Given the description of an element on the screen output the (x, y) to click on. 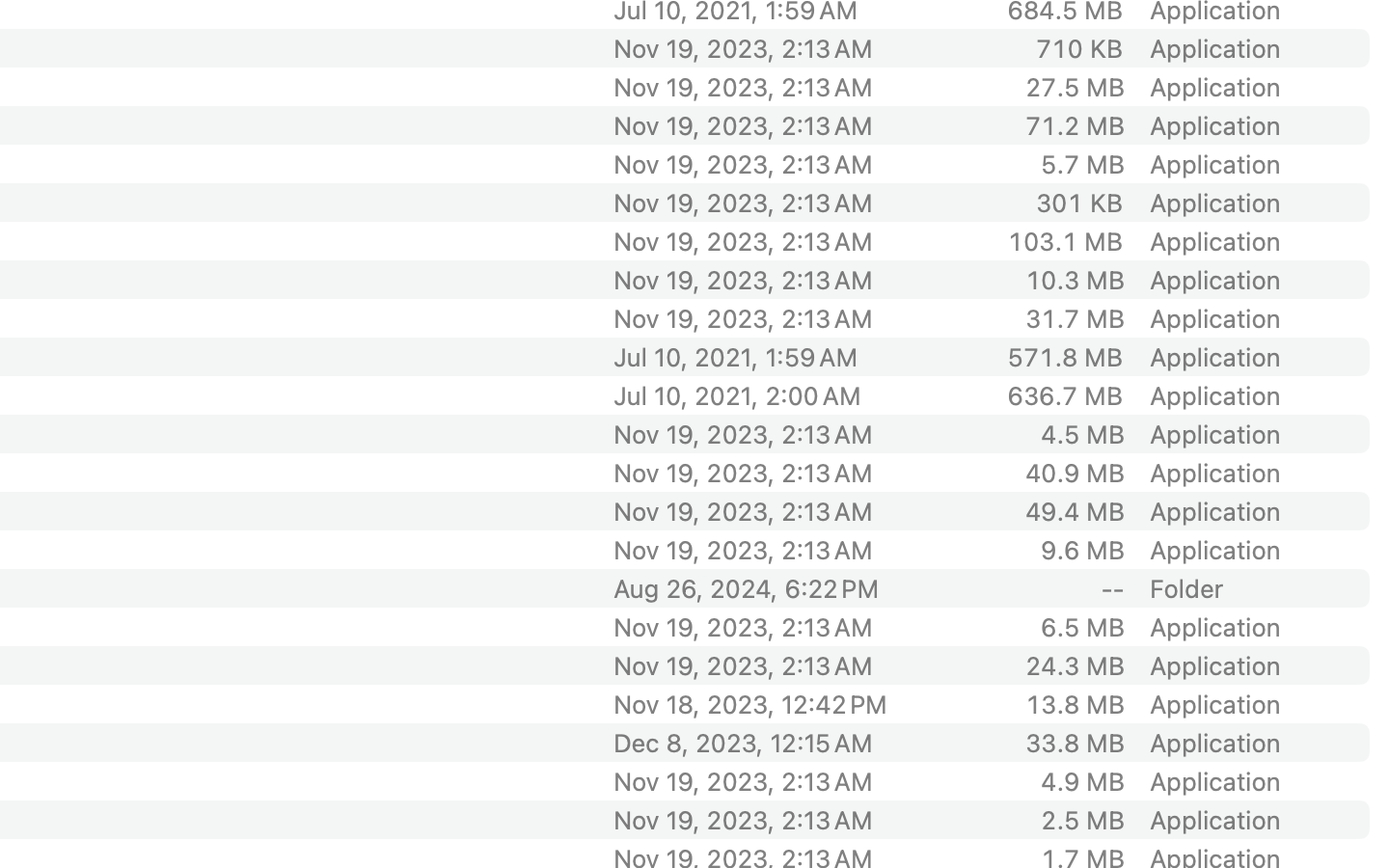
Nov 18, 2023, 12:42 PM Element type: AXStaticText (774, 703)
710 KB Element type: AXStaticText (1079, 47)
49.4 MB Element type: AXStaticText (1074, 510)
Application Element type: AXStaticText (1218, 317)
Nov 19, 2023, 2:13 AM Element type: AXStaticText (774, 317)
